Given the description of an element on the screen output the (x, y) to click on. 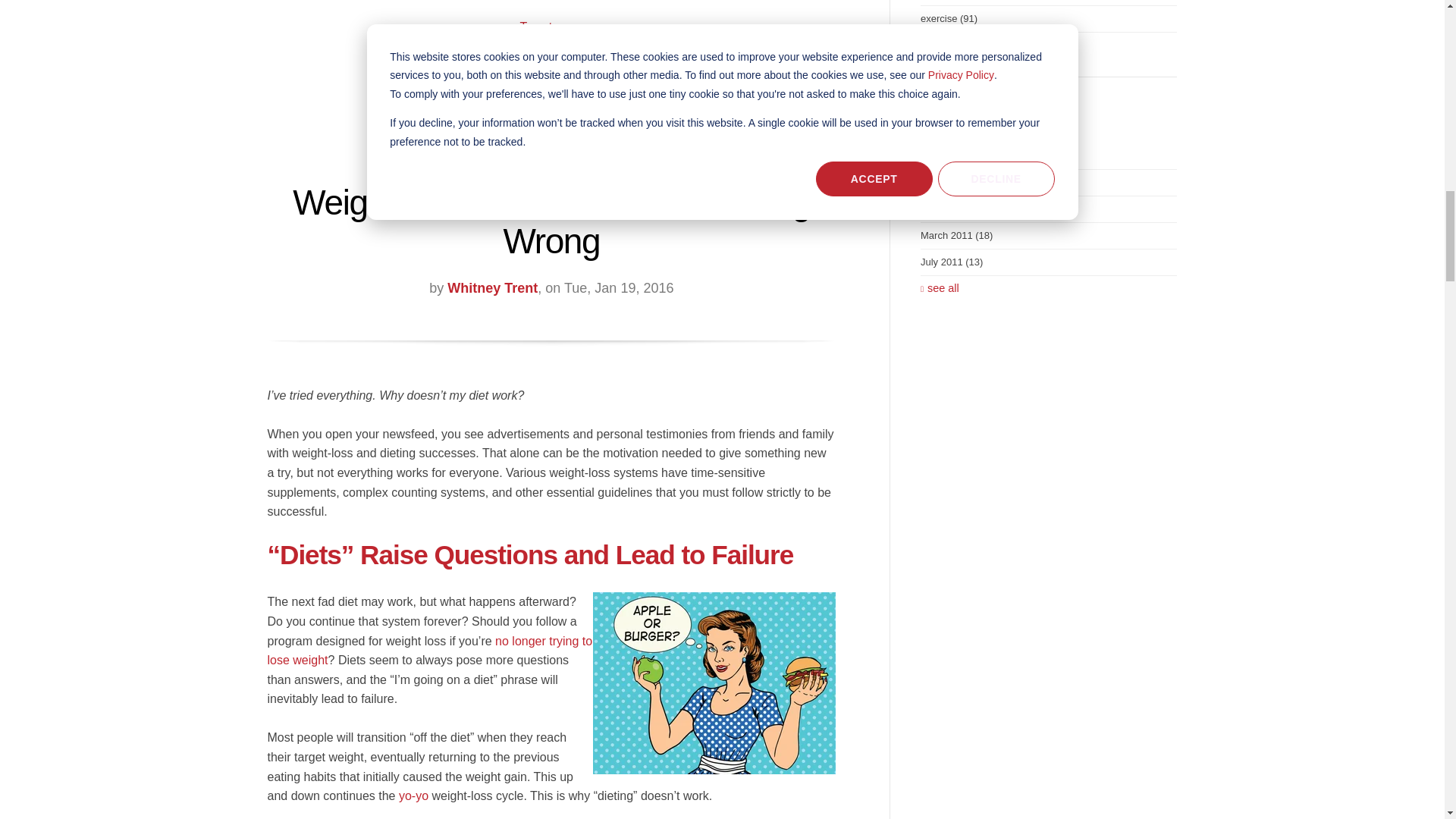
Whitney Trent (491, 287)
Tweet (536, 26)
ThinkstockPhotos-503894126.jpg (713, 682)
